Given the description of an element on the screen output the (x, y) to click on. 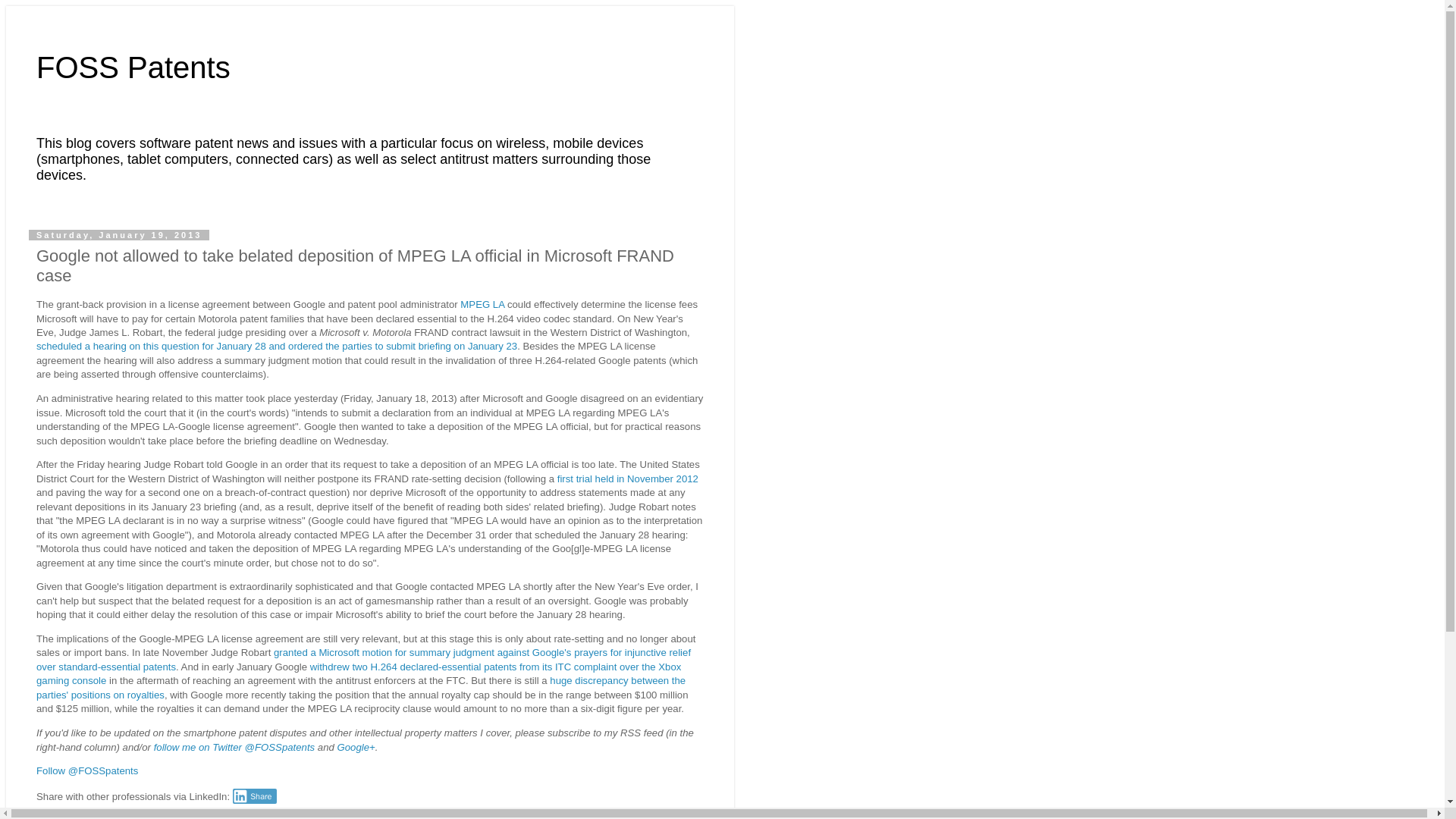
Share (255, 795)
huge discrepancy between the parties' positions on royalties (360, 687)
FOSS Patents (133, 67)
MPEG LA (481, 304)
first trial held in November 2012 (627, 478)
